Given the description of an element on the screen output the (x, y) to click on. 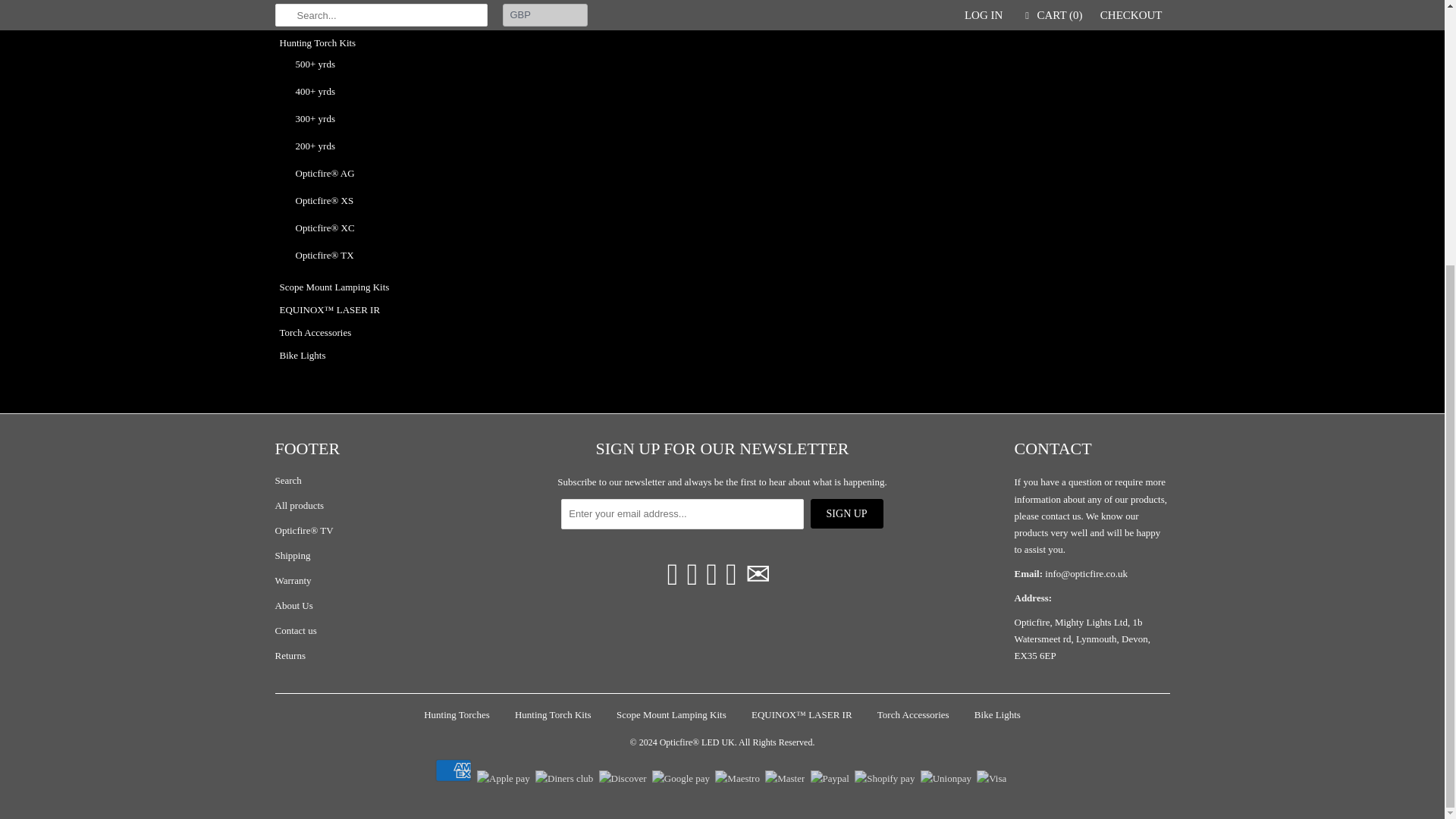
Hunting Torches (312, 19)
Scope Mount Lamping Kits (333, 286)
Sign Up (846, 513)
Bike Lights (301, 355)
Search (288, 480)
Torch Accessories (314, 332)
Hunting Torch Kits (317, 42)
